Given the description of an element on the screen output the (x, y) to click on. 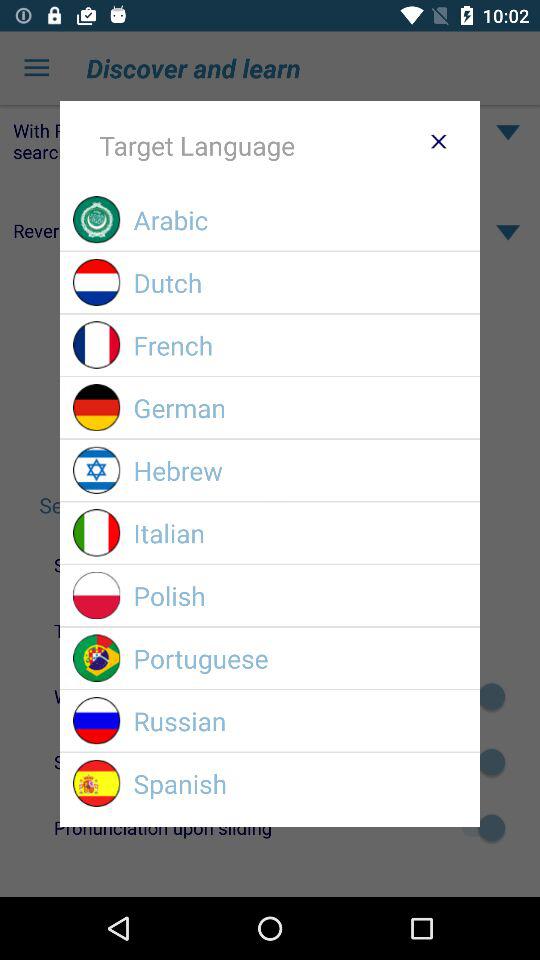
select the german (300, 407)
